Given the description of an element on the screen output the (x, y) to click on. 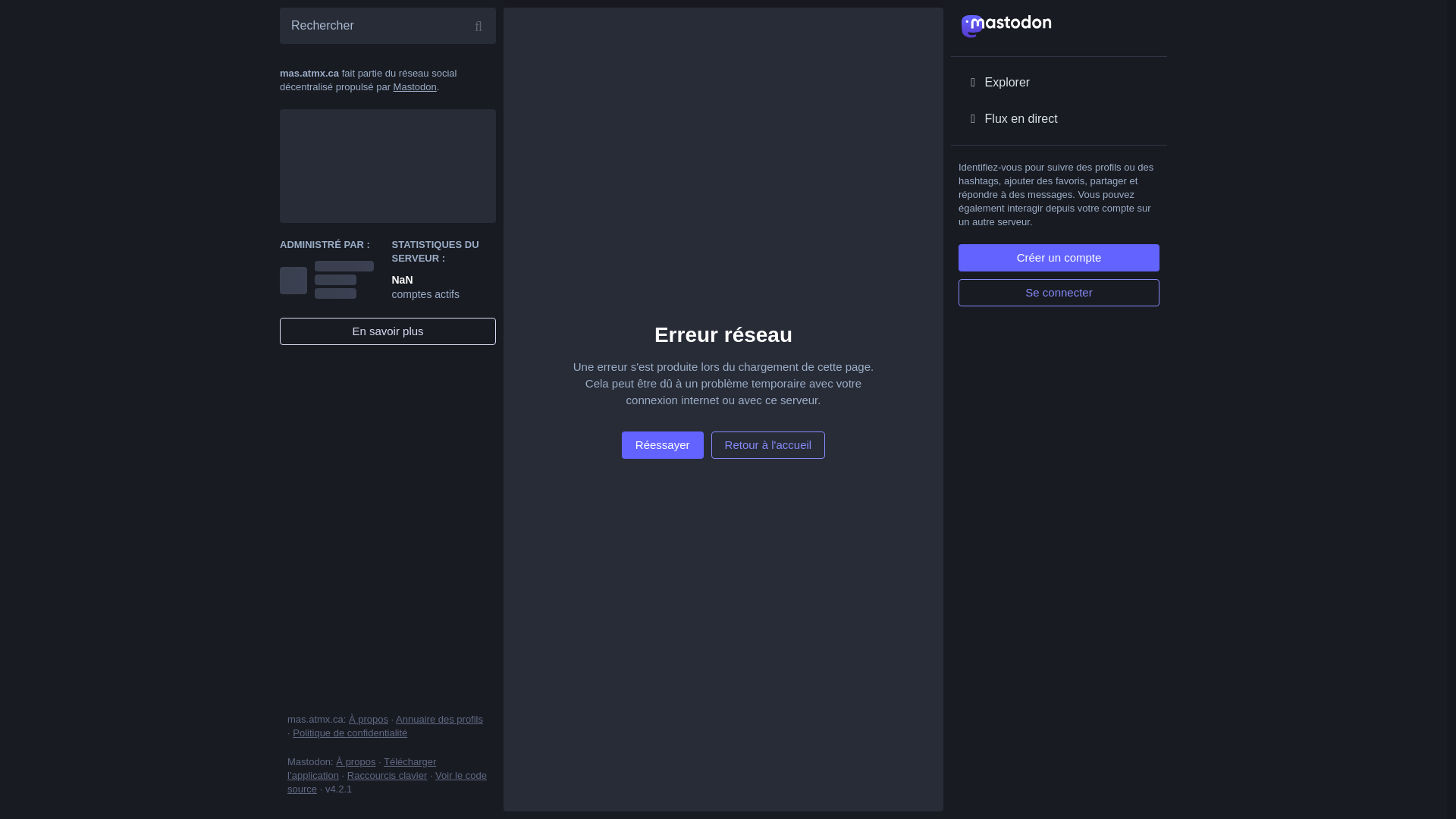
Raccourcis clavier Element type: text (386, 775)
En savoir plus Element type: text (387, 331)
Explorer Element type: text (1058, 82)
Mastodon Element type: text (414, 86)
Se connecter Element type: text (1058, 292)
Flux en direct Element type: text (1058, 118)
Voir le code source Element type: text (386, 781)
Annuaire des profils Element type: text (439, 718)
